Given the description of an element on the screen output the (x, y) to click on. 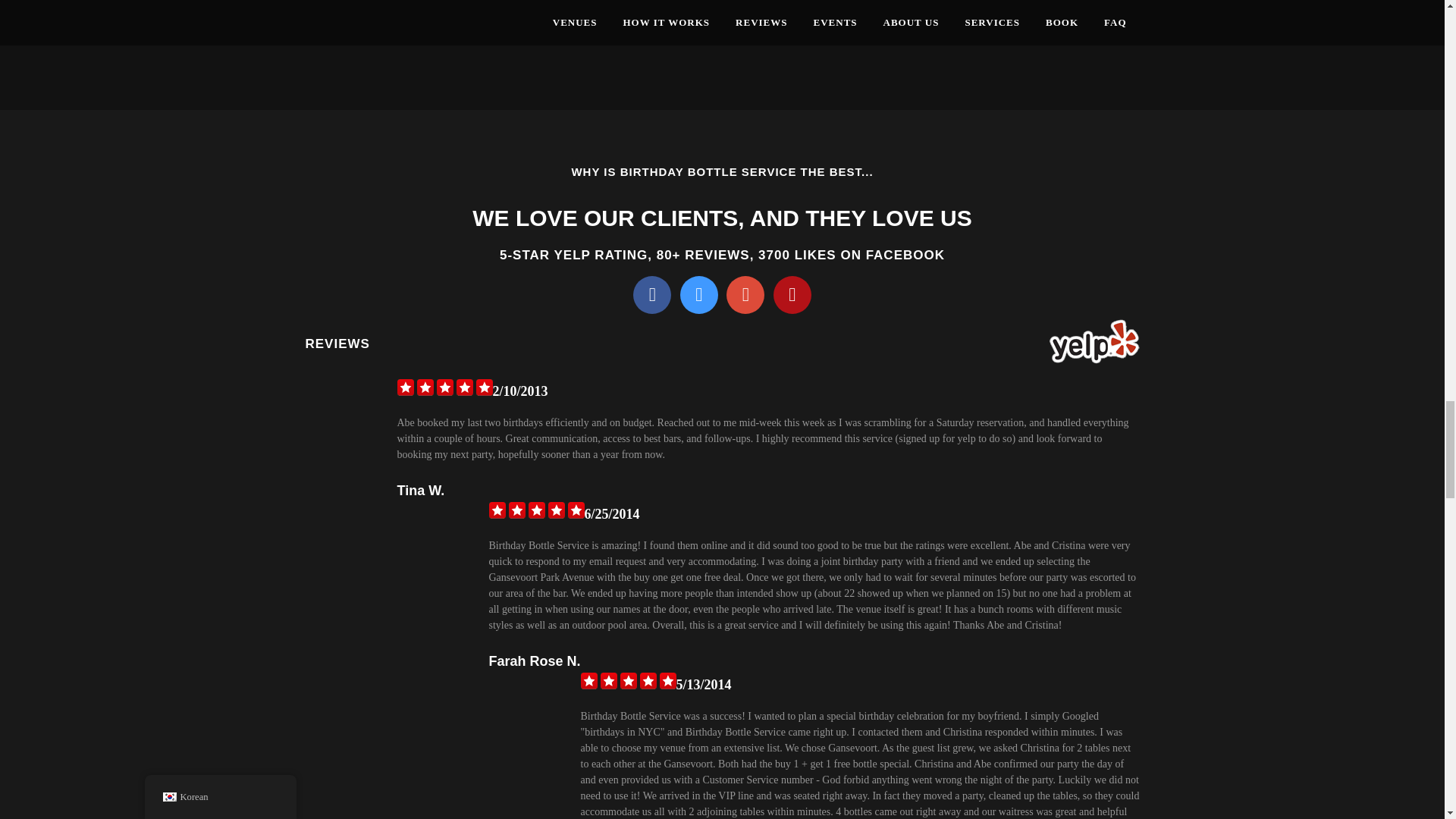
Cristin McGrath (903, 54)
M1-5 Lounge - Ha Le 4 (181, 54)
Taj Lounge 5 (542, 54)
